Given the description of an element on the screen output the (x, y) to click on. 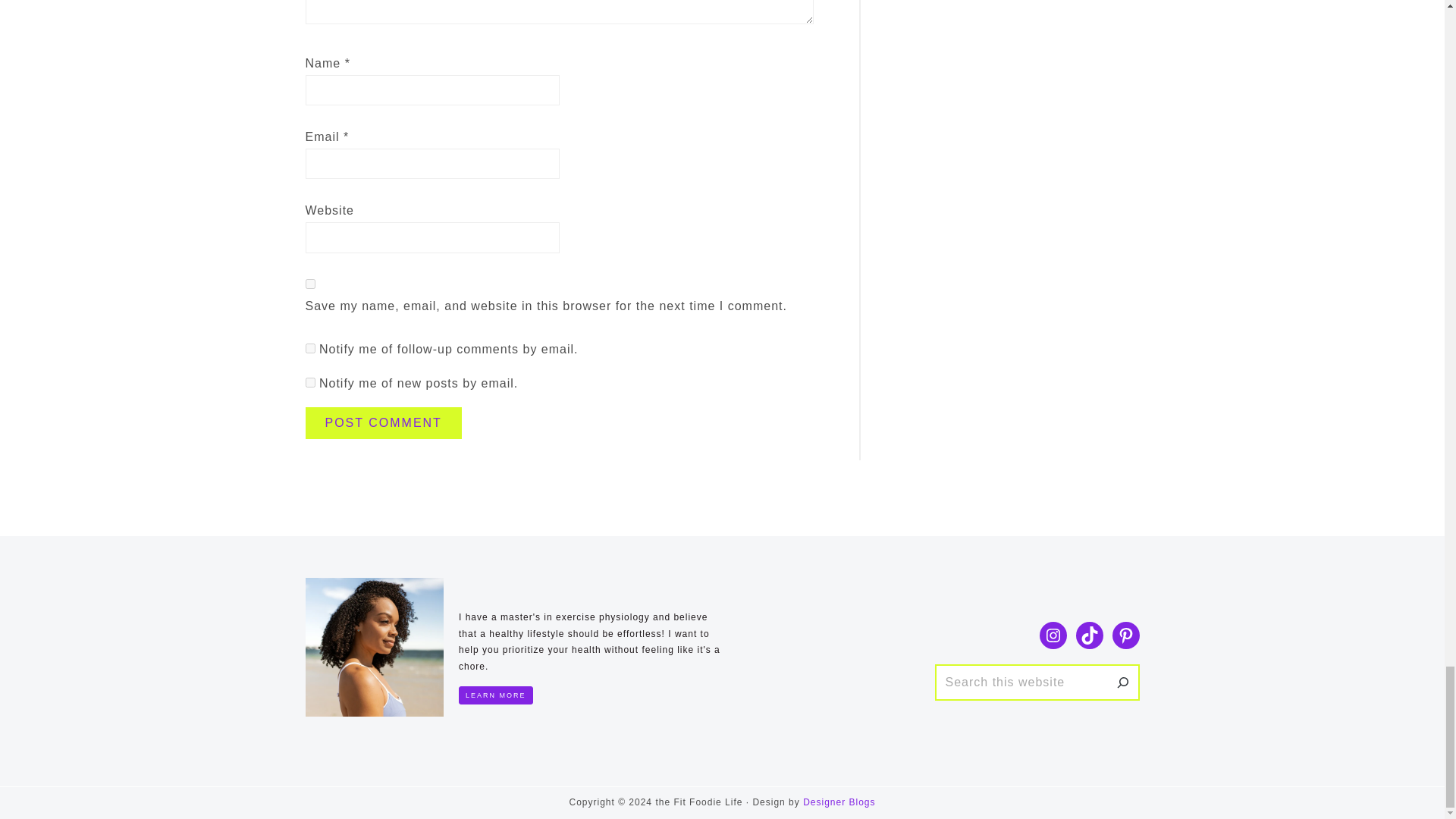
yes (309, 284)
Post Comment (382, 422)
Post Comment (382, 422)
subscribe (309, 347)
subscribe (309, 382)
